Given the description of an element on the screen output the (x, y) to click on. 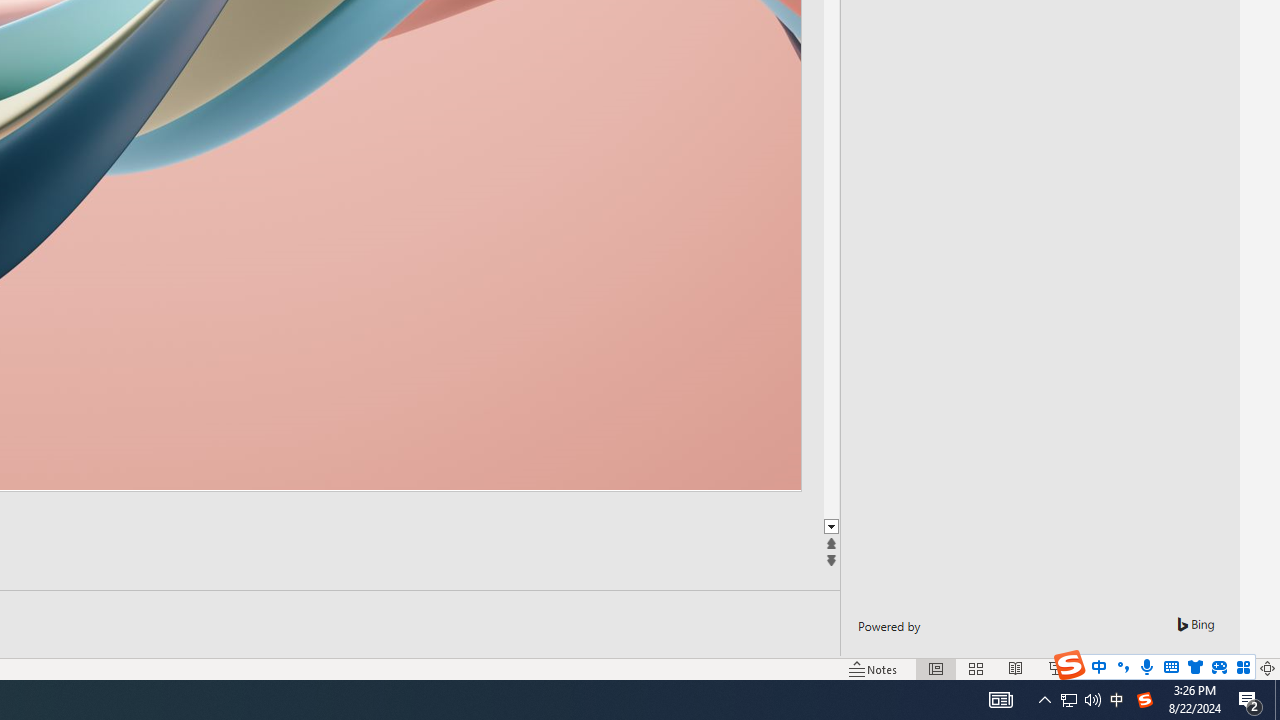
Zoom 133% (1234, 668)
